Given the description of an element on the screen output the (x, y) to click on. 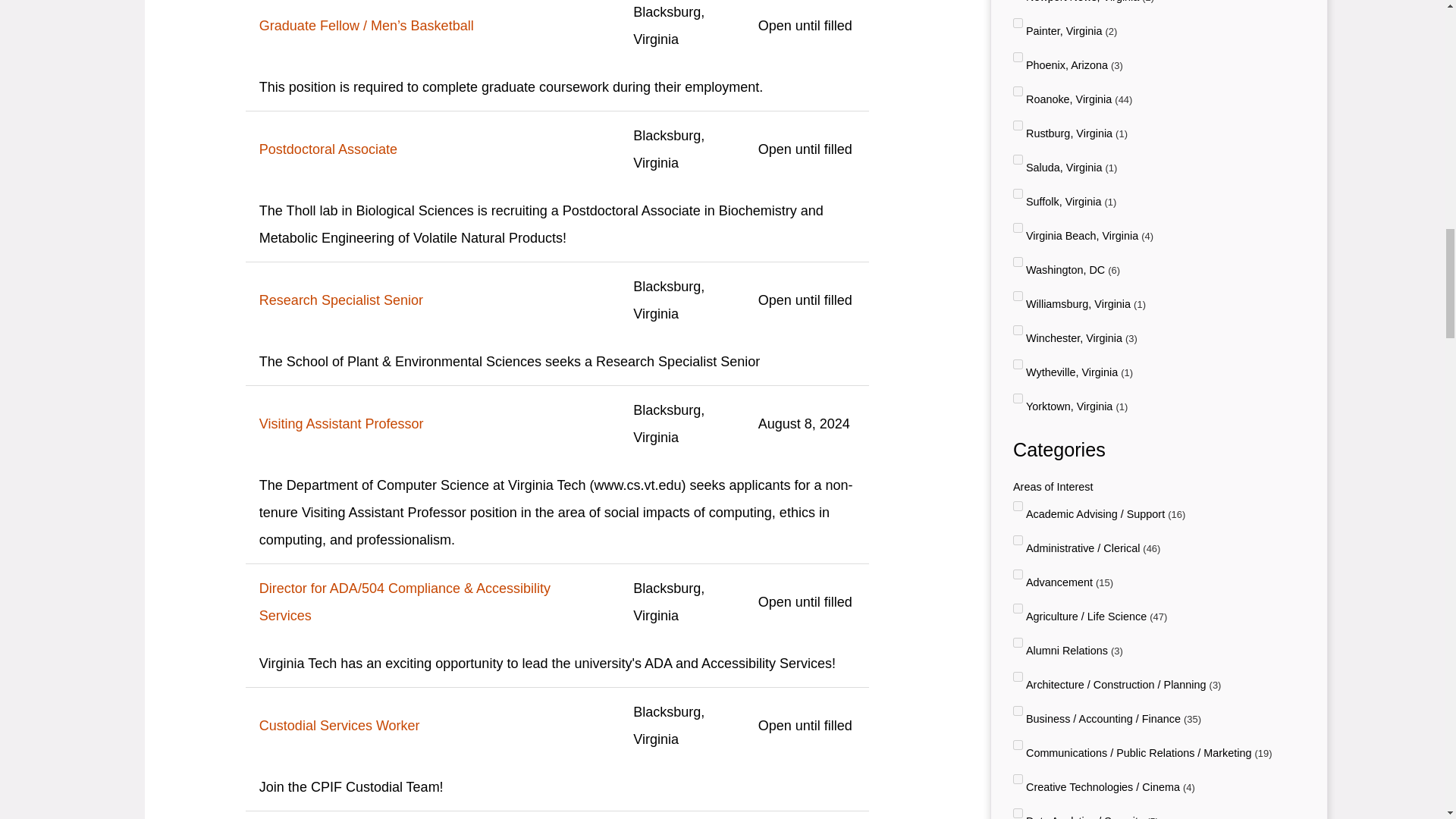
Postdoctoral Associate (432, 148)
Visiting Assistant Professor (432, 423)
Research Specialist Senior (432, 299)
Custodial Services Worker (432, 725)
